Given the description of an element on the screen output the (x, y) to click on. 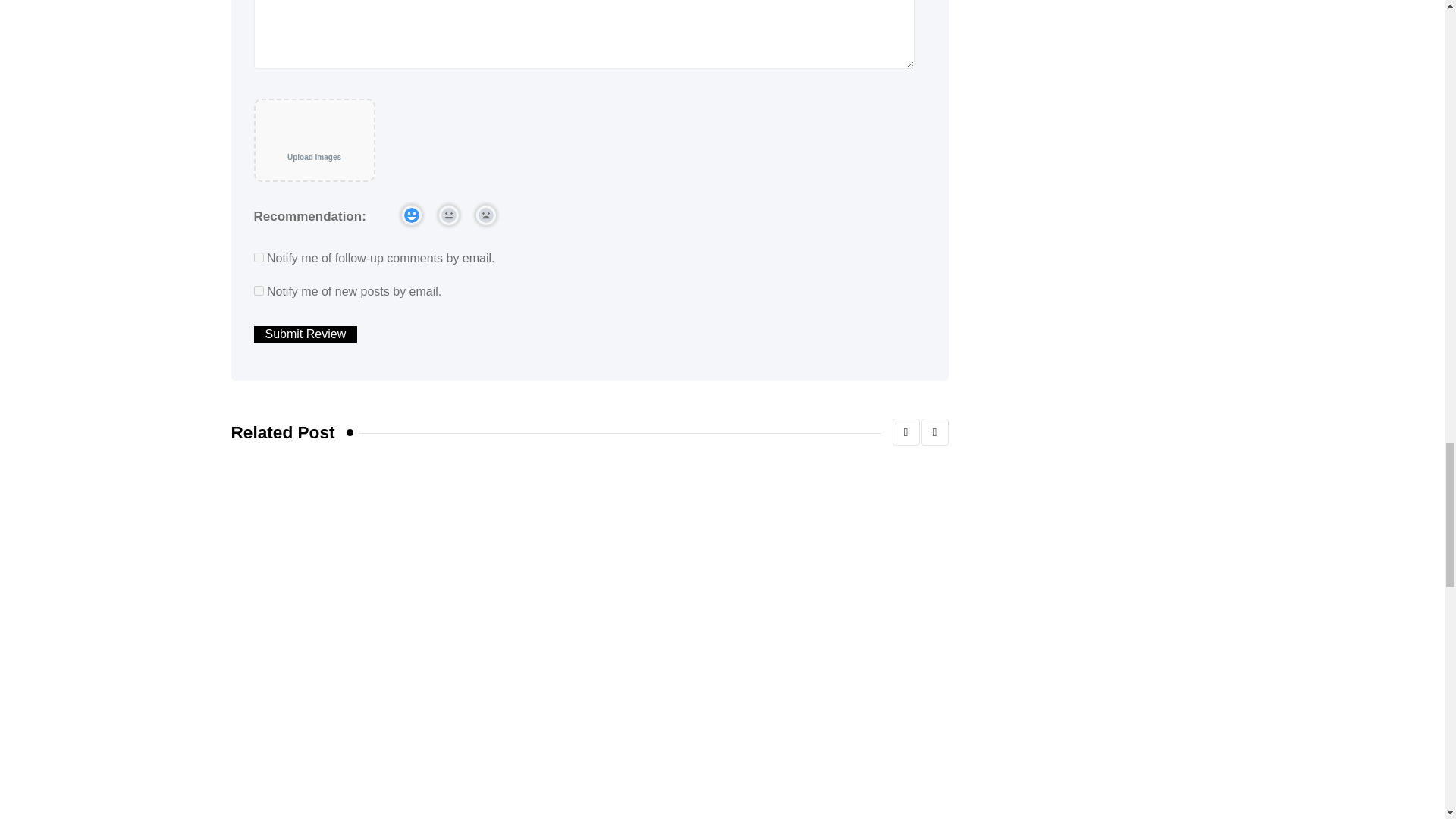
Submit Review (304, 334)
subscribe (258, 290)
subscribe (258, 257)
